Given the description of an element on the screen output the (x, y) to click on. 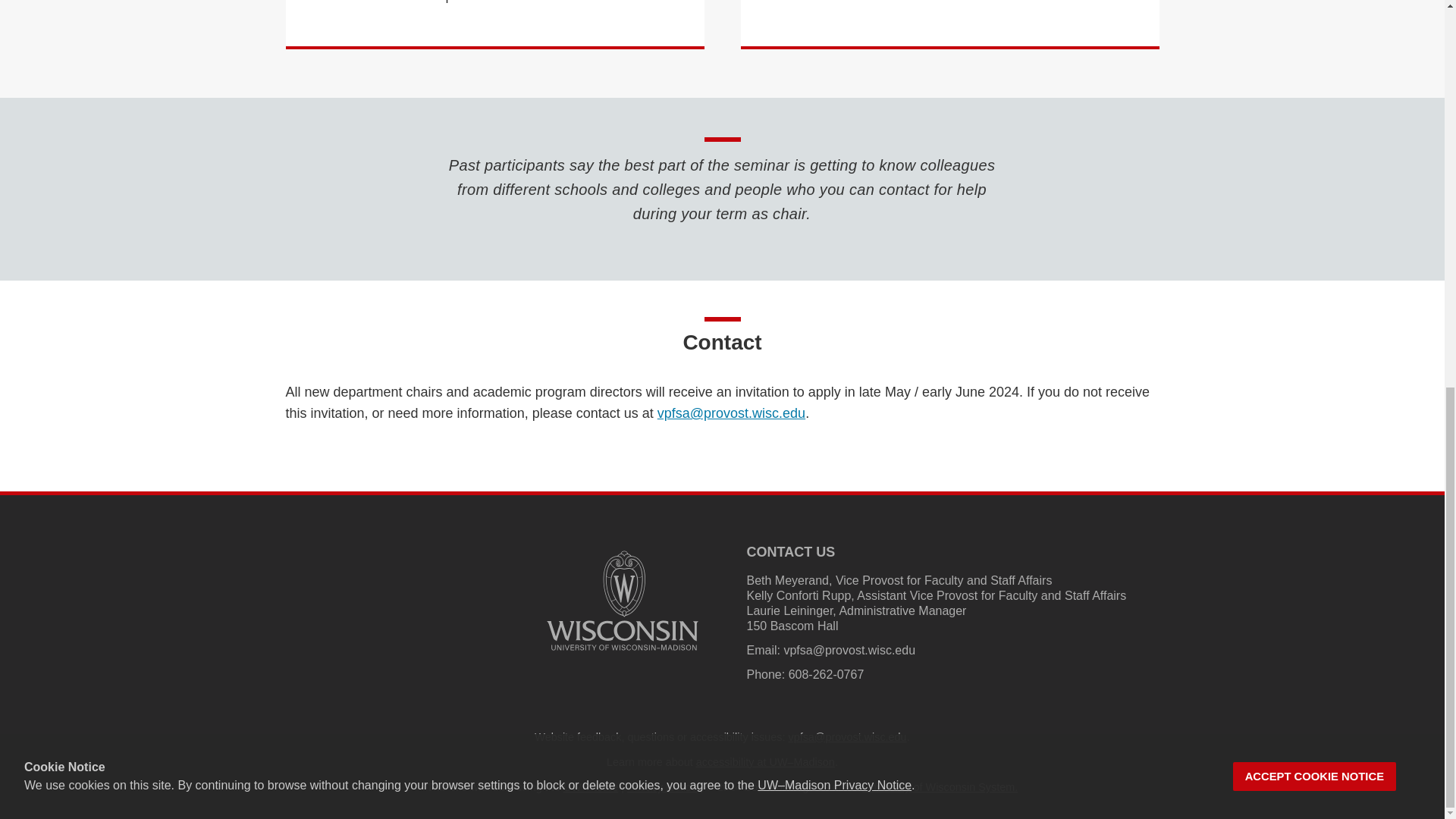
University logo that links to main university website (621, 600)
ACCEPT COOKIE NOTICE (1314, 42)
